Given the description of an element on the screen output the (x, y) to click on. 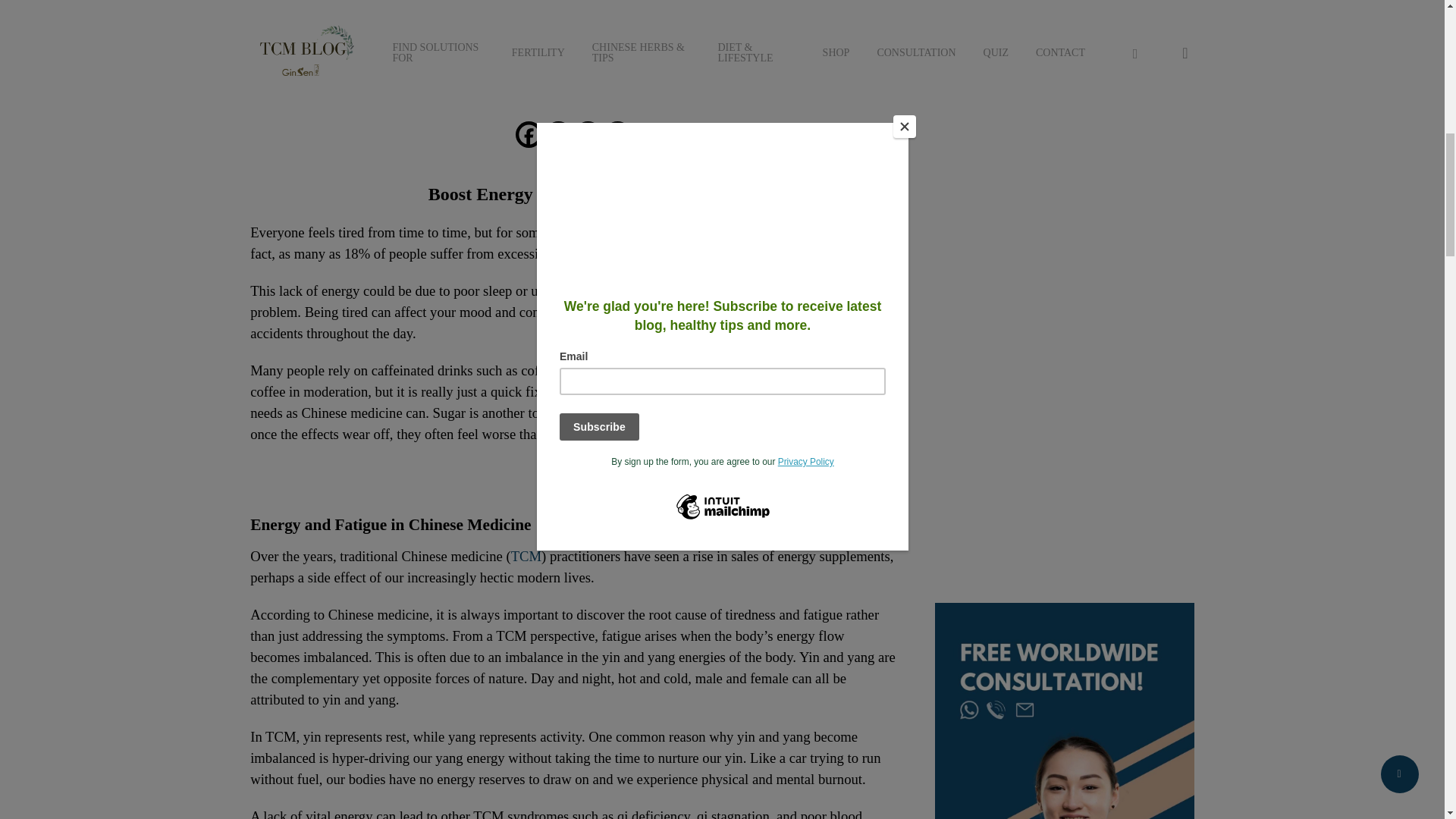
Amazon Wish List (588, 134)
Facebook (528, 134)
Twitter (558, 134)
Advertisement (1063, 490)
Pinterest (617, 134)
